Given the description of an element on the screen output the (x, y) to click on. 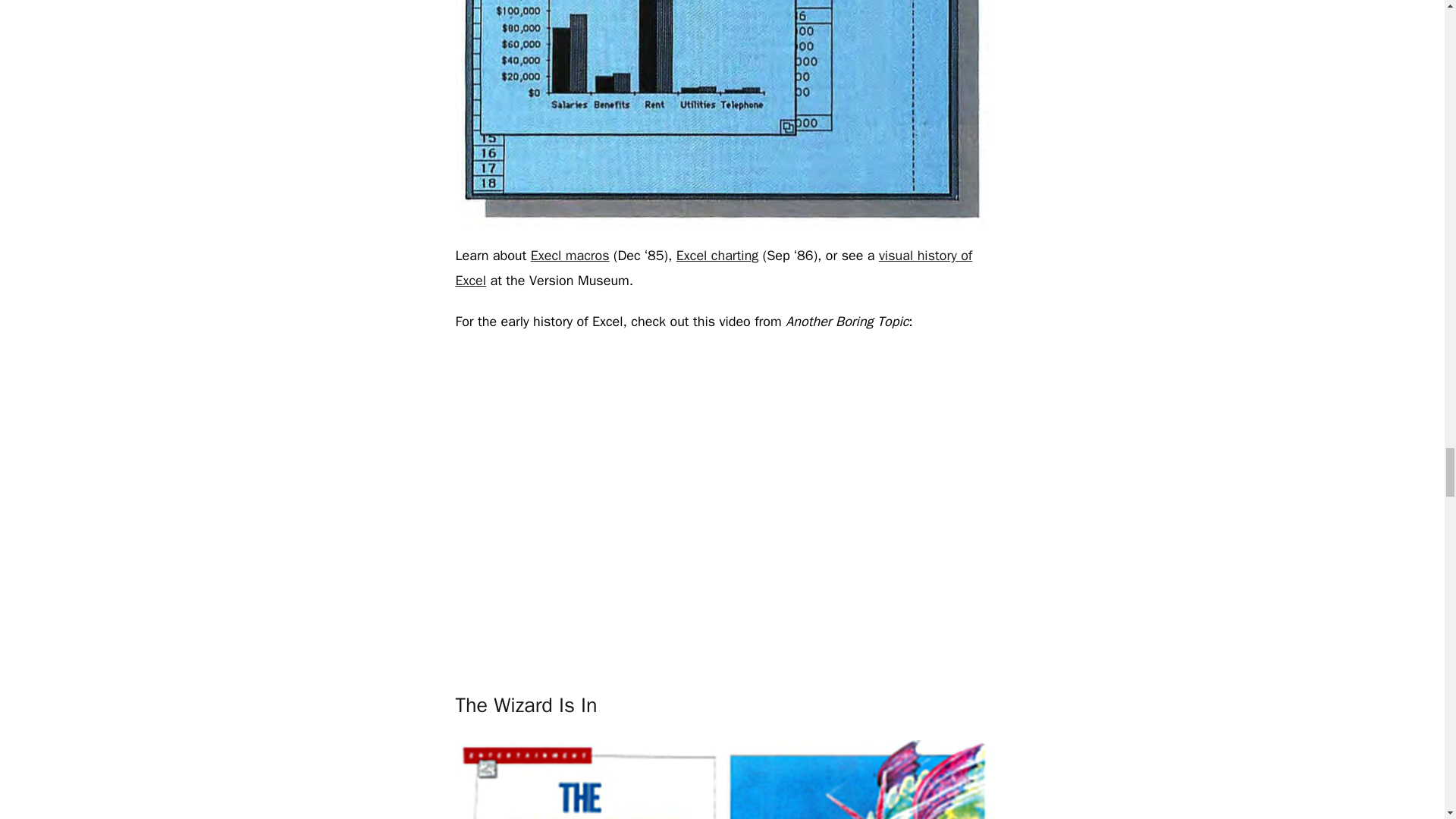
Put down that spreadsheet, just for a minute. (721, 779)
Execl macros (570, 255)
Charting in the first version of Excel (721, 113)
